Given the description of an element on the screen output the (x, y) to click on. 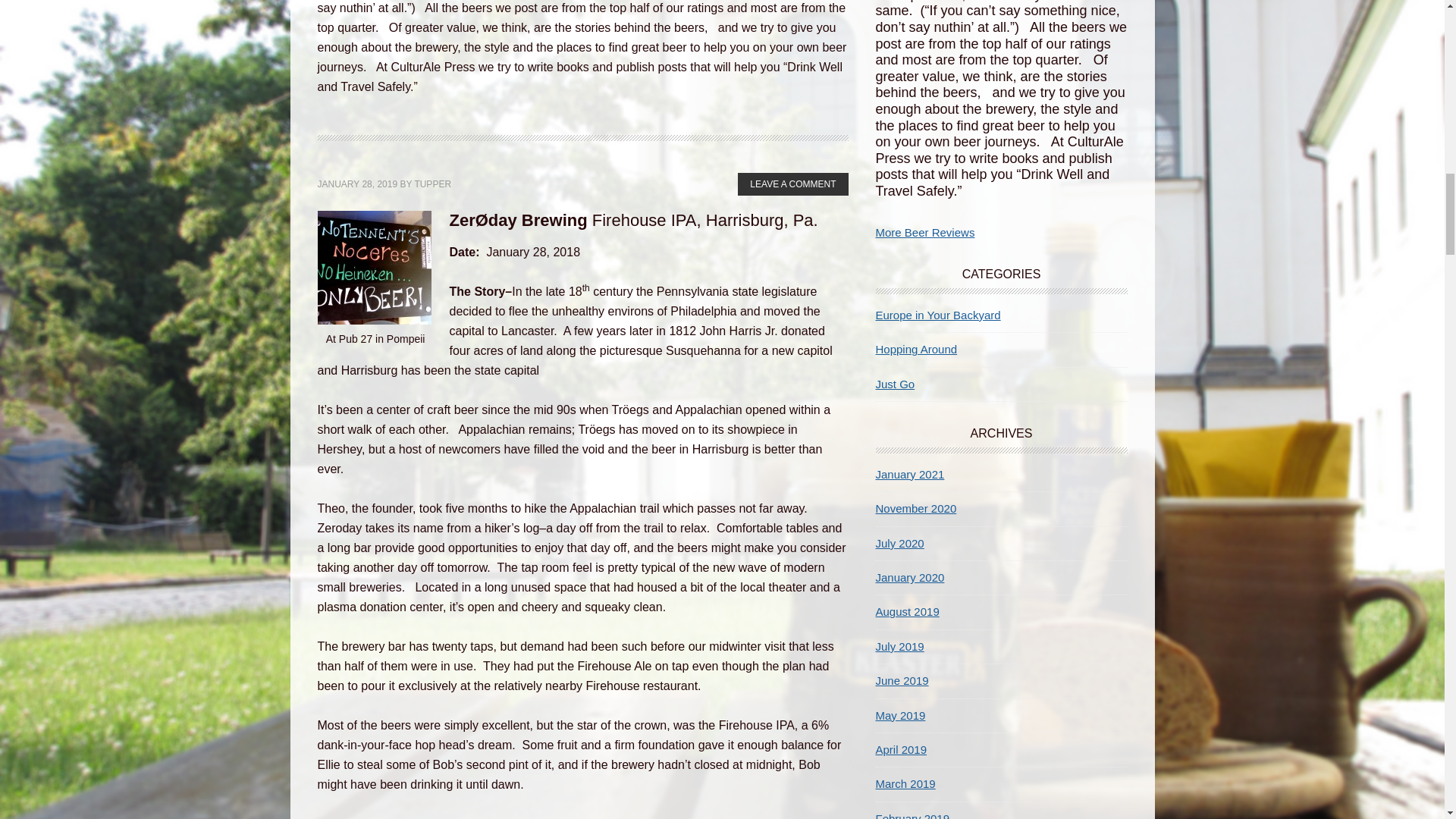
TUPPER (432, 184)
LEAVE A COMMENT (792, 183)
Beer Reviews (924, 232)
